Given the description of an element on the screen output the (x, y) to click on. 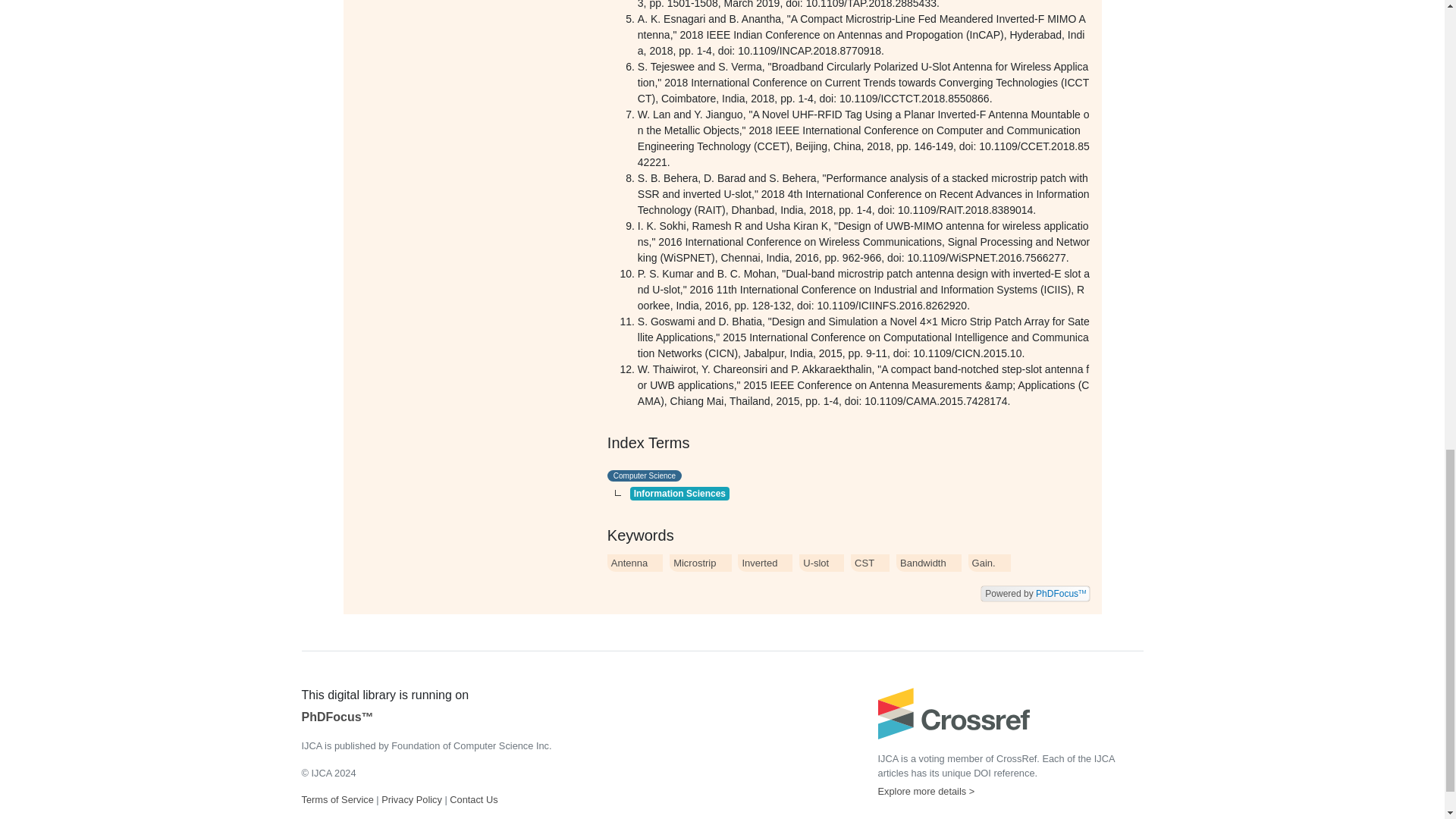
Powered by PhDFocusTM (1035, 592)
